Given the description of an element on the screen output the (x, y) to click on. 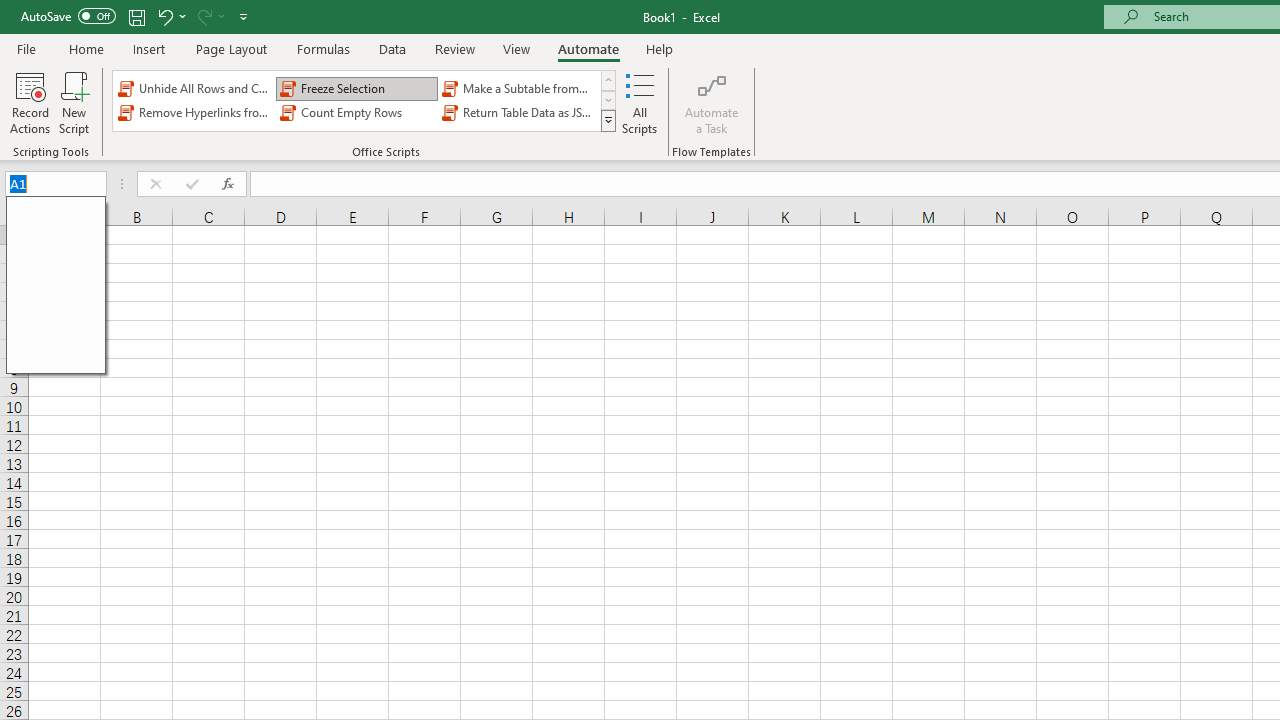
Record Actions (29, 102)
Make a Subtable from a Selection (518, 88)
Remove Hyperlinks from Sheet (194, 112)
